Given the description of an element on the screen output the (x, y) to click on. 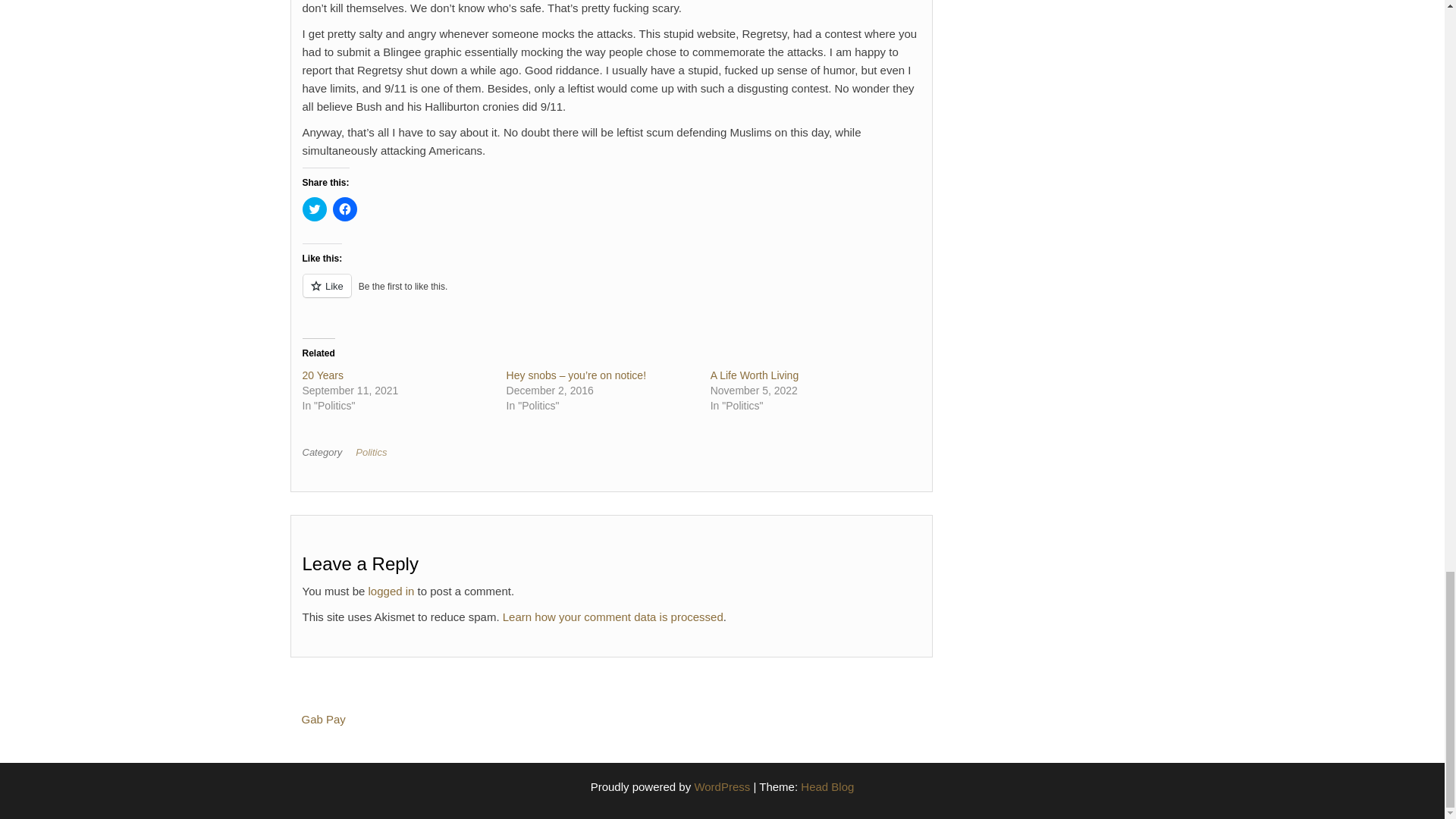
A Life Worth Living (753, 375)
Click to share on Twitter (313, 209)
Click to share on Facebook (343, 209)
Politics (374, 451)
20 Years (322, 375)
Learn how your comment data is processed (612, 616)
WordPress (721, 786)
20 Years (322, 375)
Head Blog (826, 786)
Gab Pay (323, 718)
logged in (391, 590)
A Life Worth Living (753, 375)
Like or Reblog (610, 294)
